Given the description of an element on the screen output the (x, y) to click on. 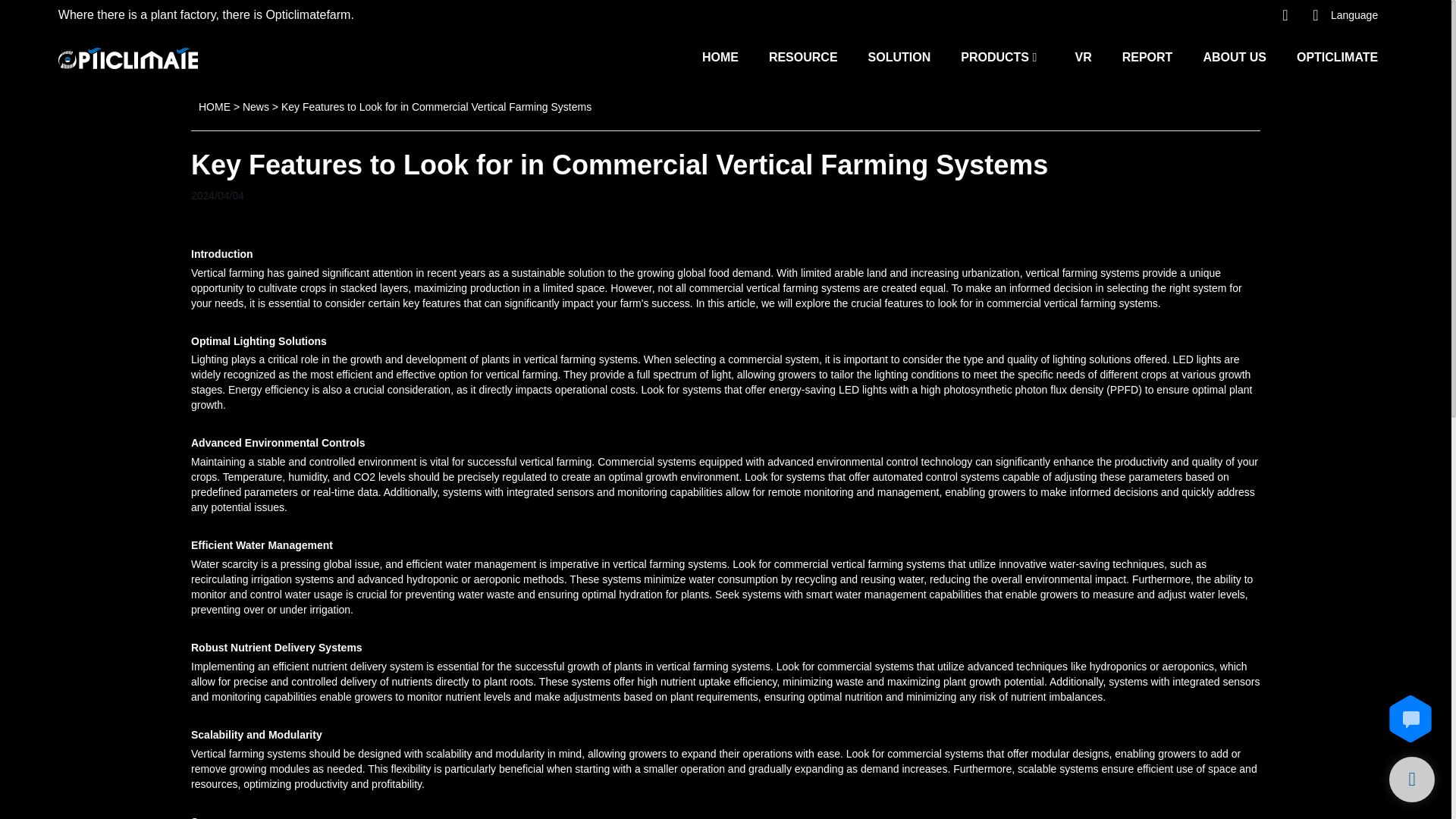
RESOURCE (803, 56)
News (256, 106)
HOME (719, 56)
ABOUT US (1234, 56)
SOLUTION (899, 56)
HOME (214, 106)
PRODUCTS (994, 56)
REPORT (1147, 56)
OPTICLIMATE (1337, 56)
